Given the description of an element on the screen output the (x, y) to click on. 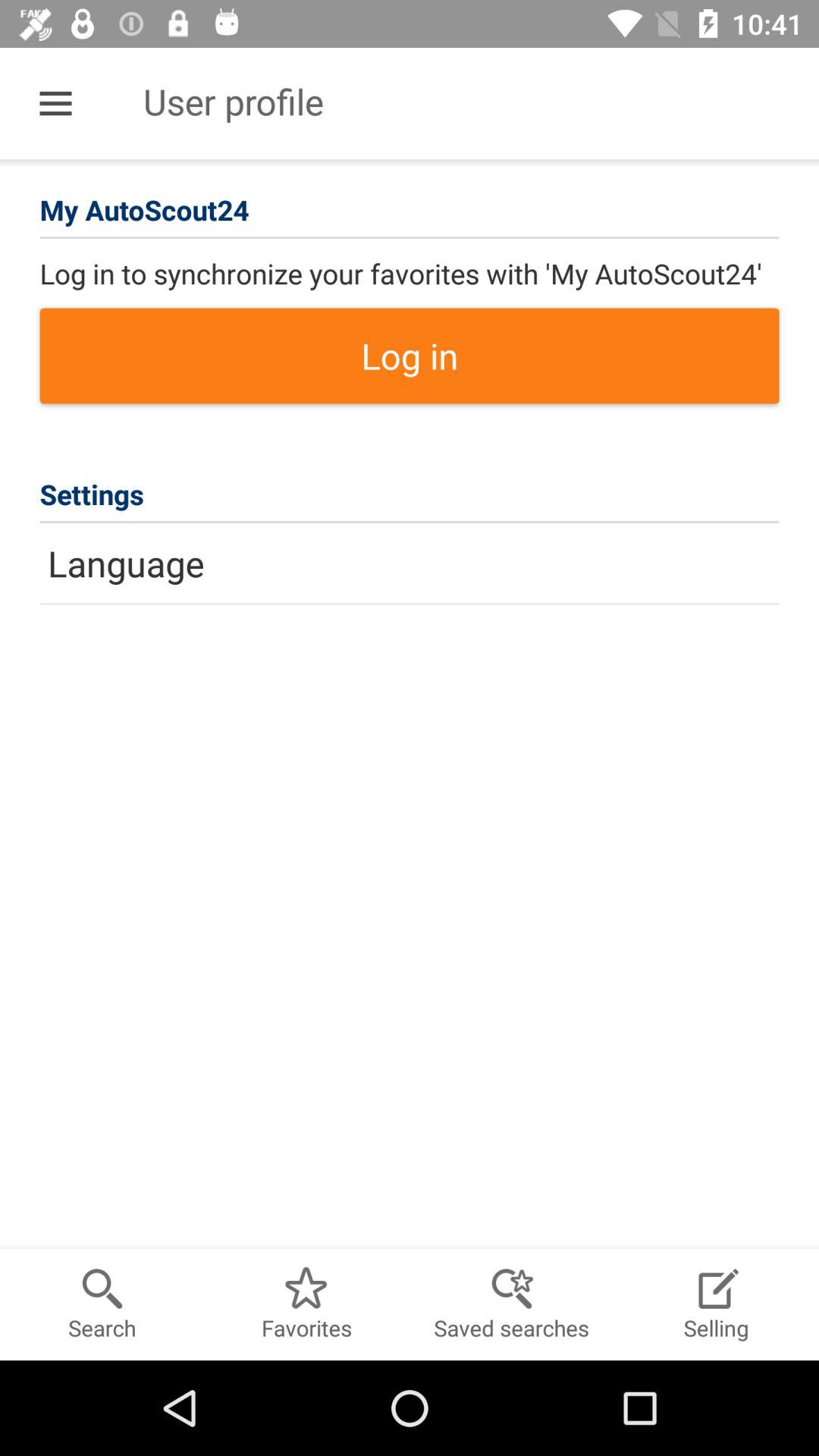
select the item next to the user profile (55, 103)
